Given the description of an element on the screen output the (x, y) to click on. 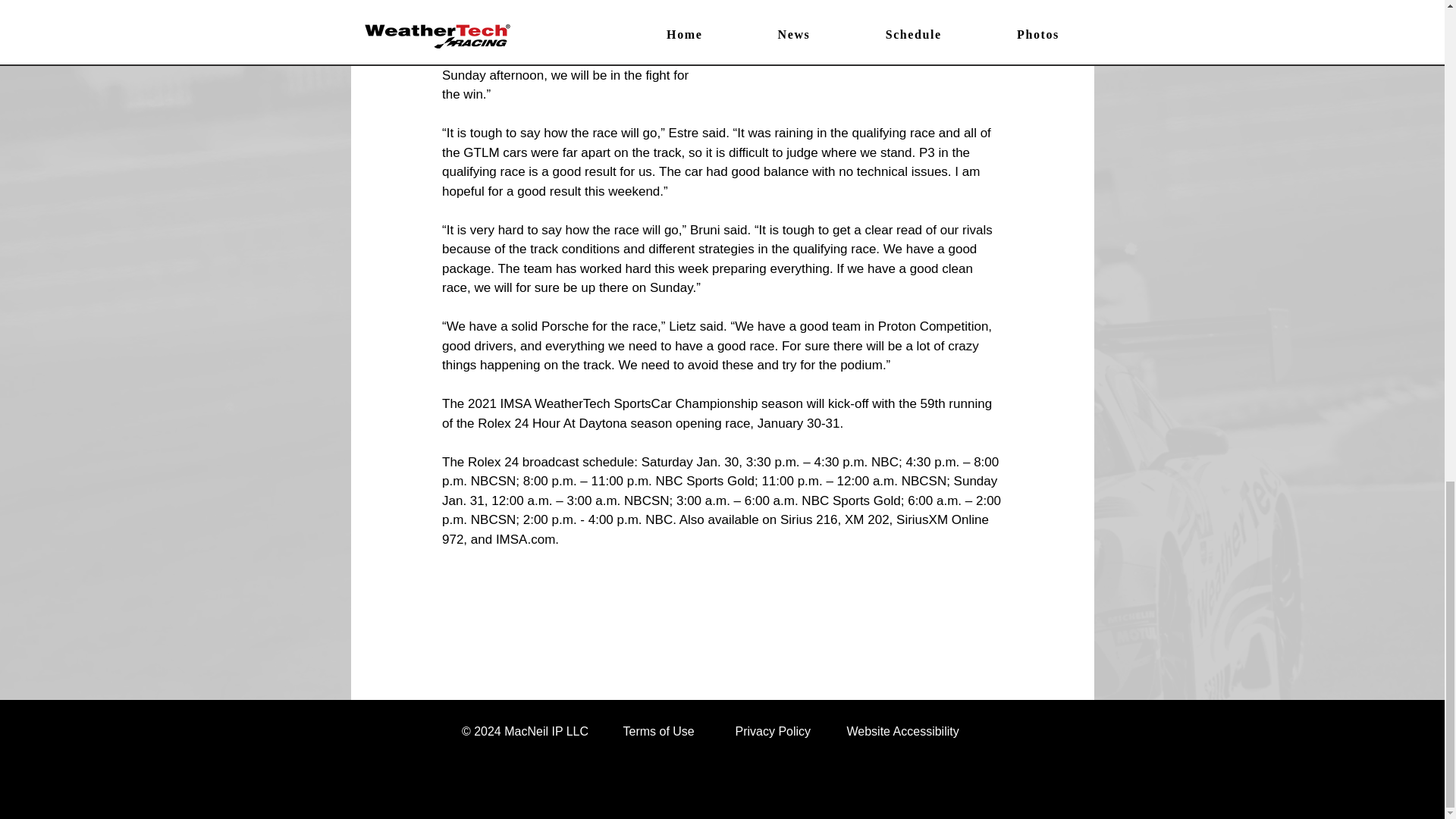
Website Accessibility (901, 730)
Terms of Use (658, 730)
Privacy Policy (772, 730)
